Given the description of an element on the screen output the (x, y) to click on. 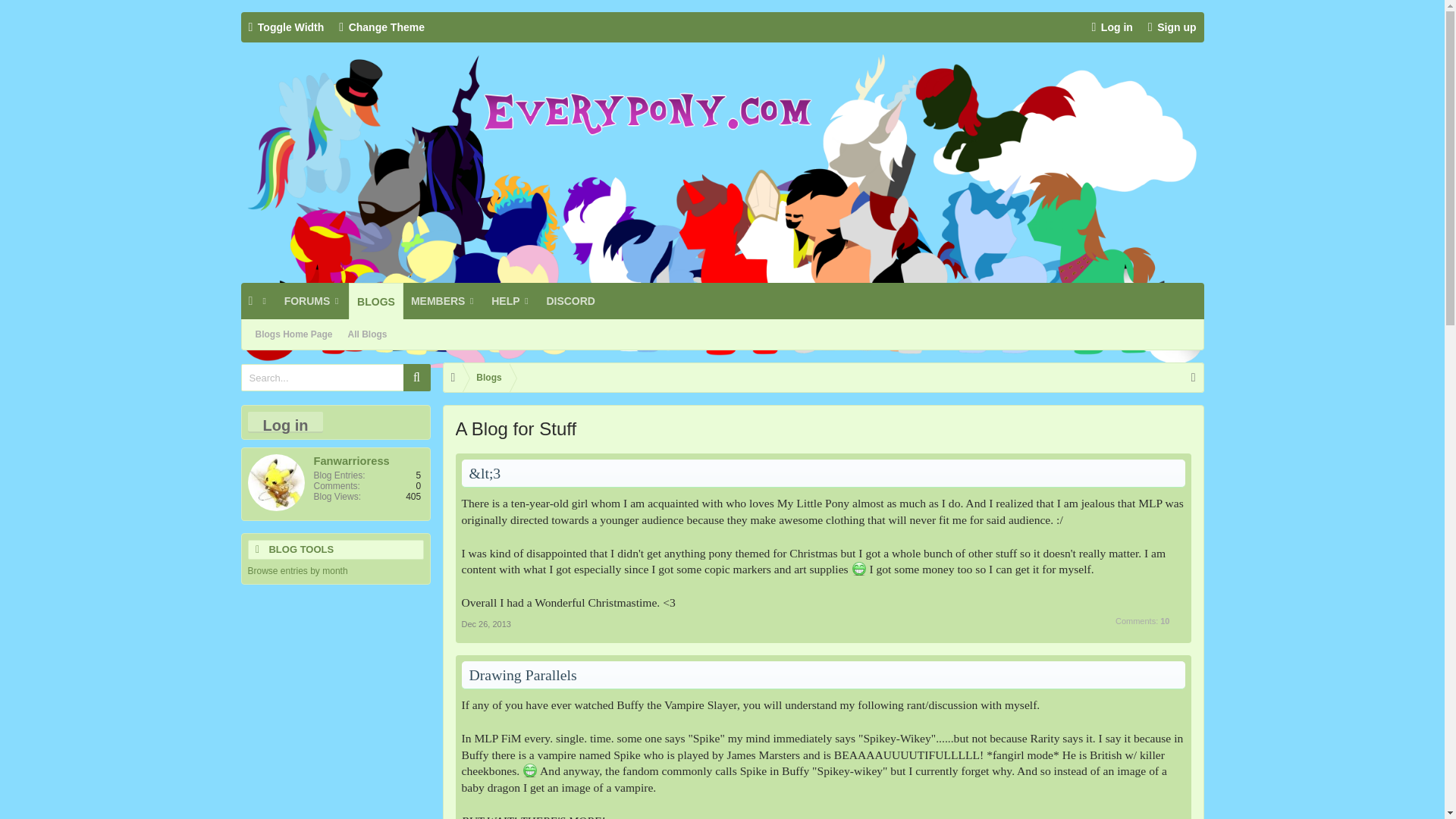
Toggle Width (286, 27)
Log in (1112, 27)
Enter your search and hit enter (335, 377)
BLOGS (376, 300)
Big Grin    :D (529, 770)
Sign up (1172, 27)
Big Grin    :D (858, 568)
FORUMS (312, 300)
Dec 26, 2013 at 9:55 PM (486, 623)
Change Theme (381, 27)
